Given the description of an element on the screen output the (x, y) to click on. 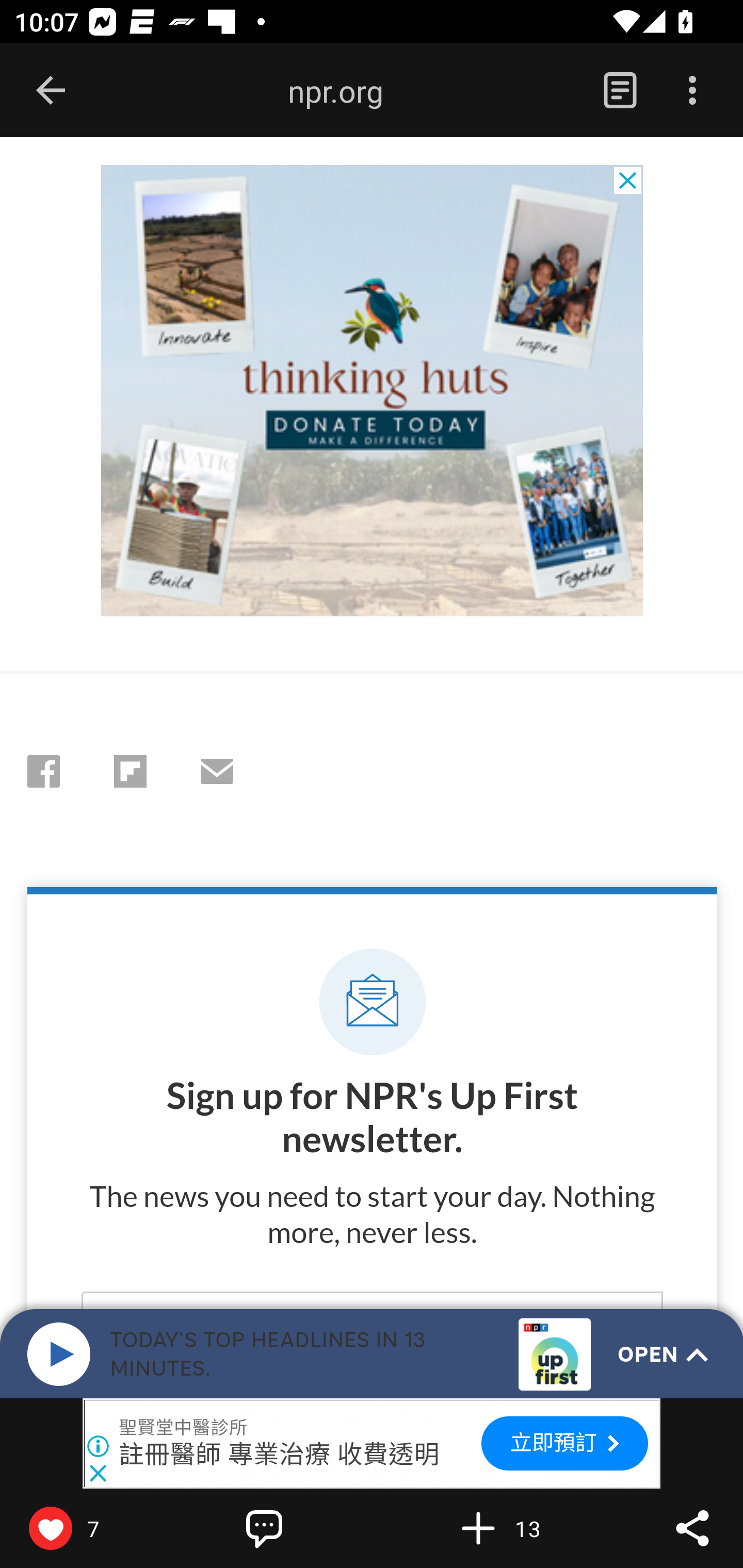
Back (50, 90)
Reader View (619, 90)
Options (692, 90)
Advertisement (372, 390)
Facebook (44, 771)
Flipboard (130, 771)
Email (216, 771)
聖賢堂中醫診所 (183, 1427)
立即預訂 (564, 1442)
註冊醫師 專業治療 收費透明 (279, 1453)
Like 7 (93, 1528)
Write a comment… (307, 1528)
Flip into Magazine 13 (521, 1528)
Share (692, 1528)
